Given the description of an element on the screen output the (x, y) to click on. 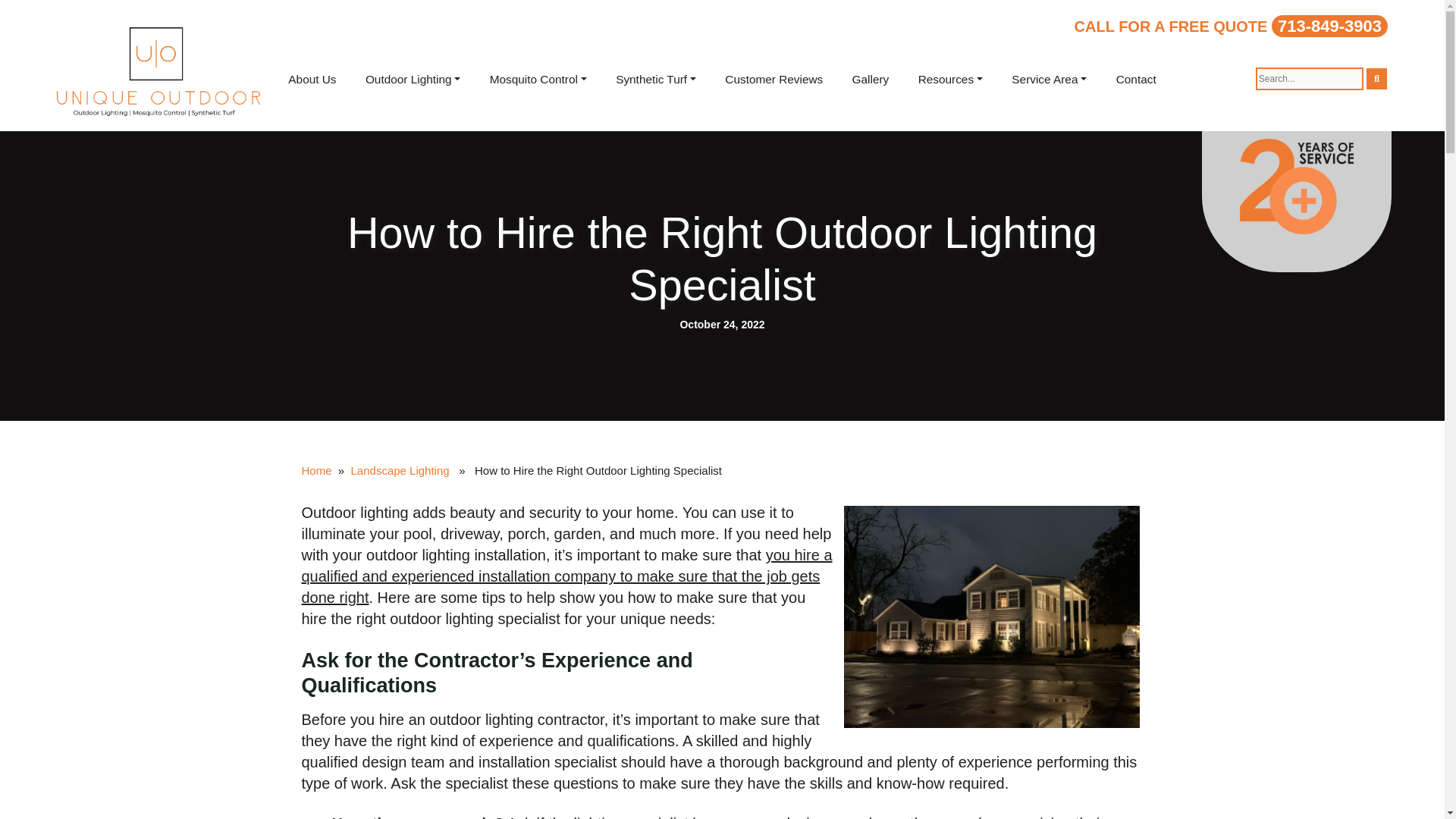
Mosquito Control (538, 79)
Resources (949, 79)
Gallery (869, 79)
Service Area (1048, 79)
Contact (1136, 79)
Landscape Lighting (399, 470)
Outdoor Lighting (413, 79)
Outdoor Lighting (413, 79)
Synthetic Turf (655, 79)
Home (316, 470)
713-849-3903 (1329, 25)
Customer Reviews (773, 79)
About Us (311, 79)
Mosquito Control (538, 79)
